Given the description of an element on the screen output the (x, y) to click on. 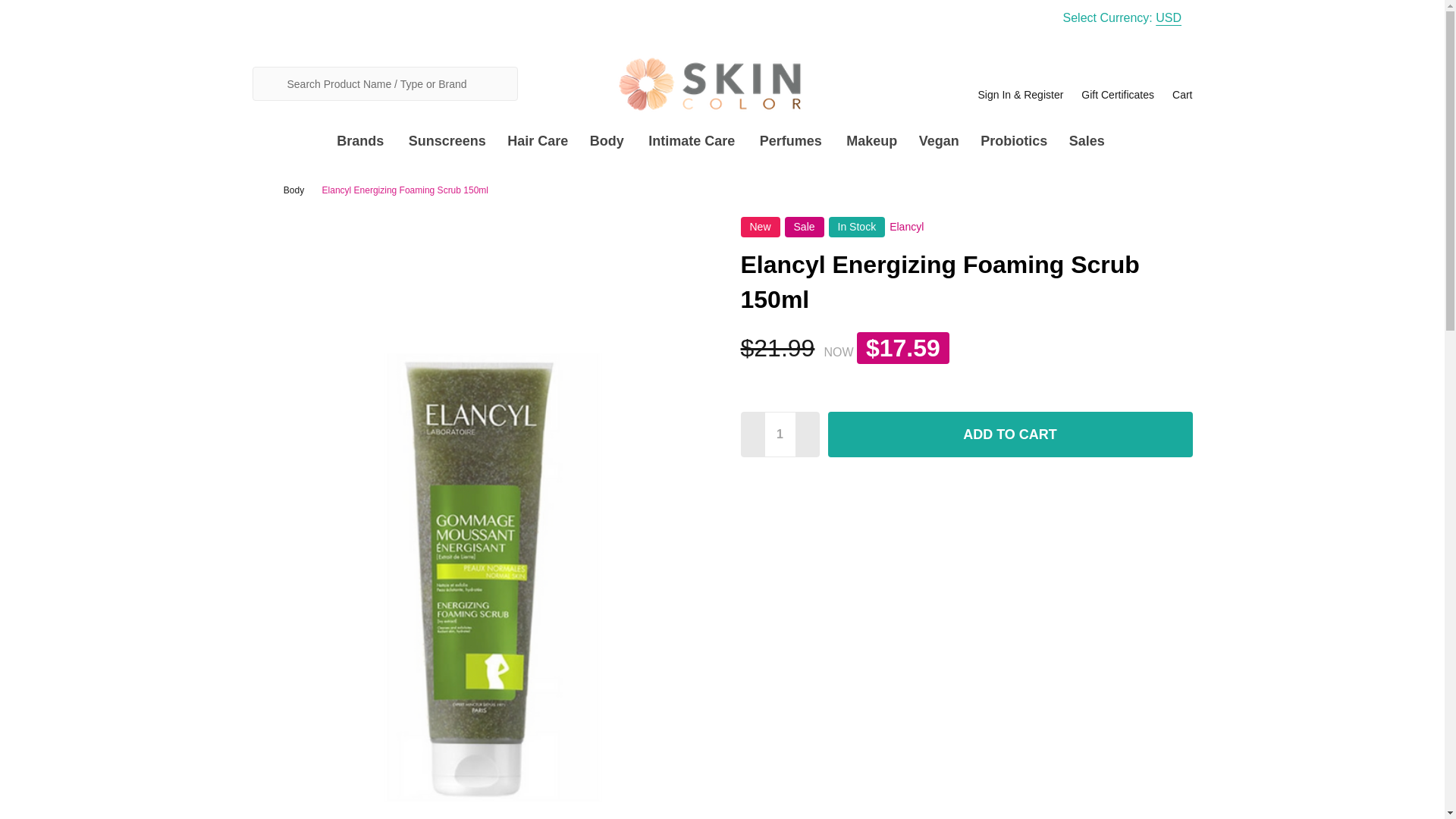
Brands (356, 140)
Select Currency: USD (1127, 17)
Skin Color (721, 83)
Gift Certificates (1117, 83)
Gift Certificates (1117, 83)
